Given the description of an element on the screen output the (x, y) to click on. 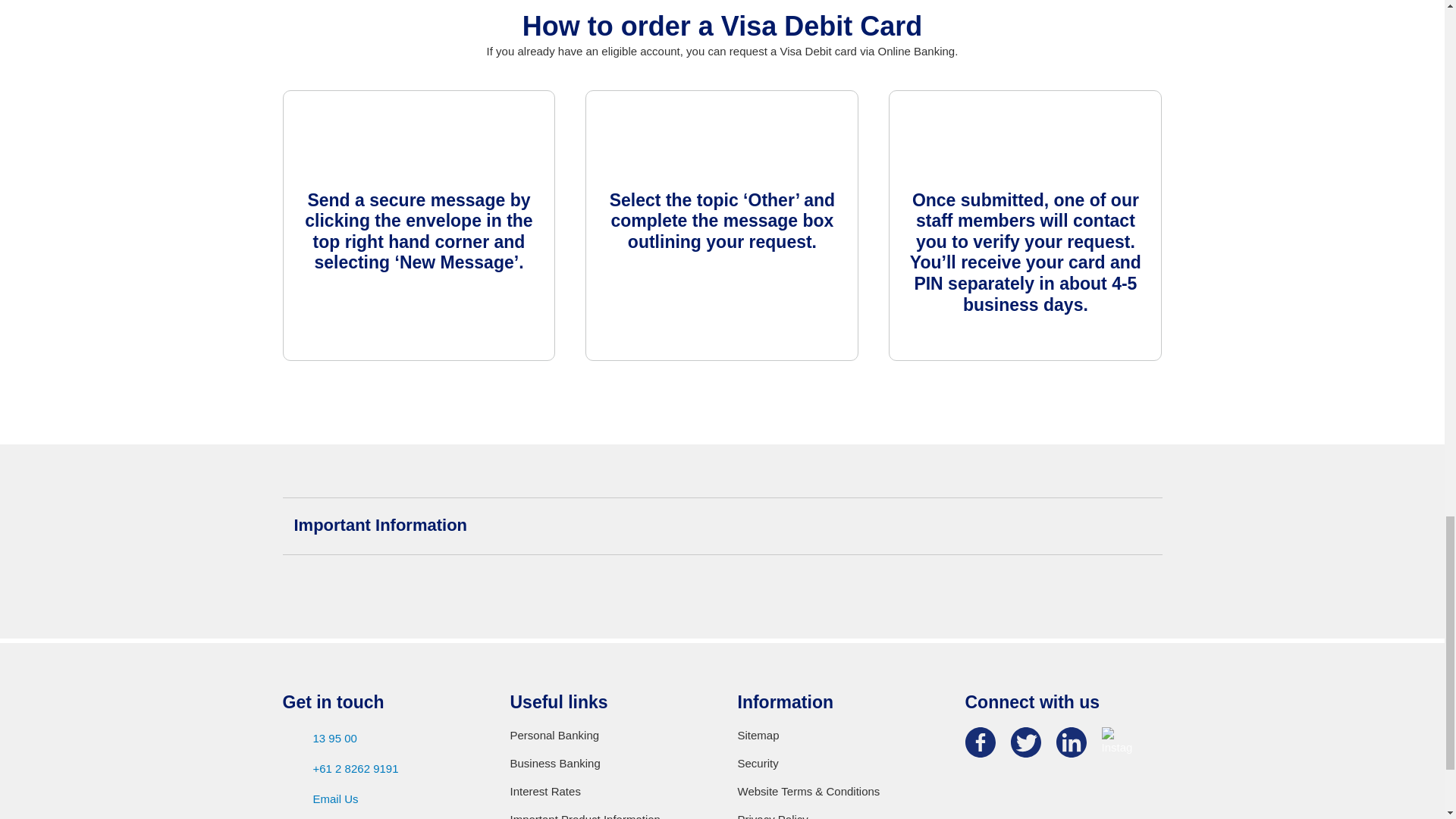
Interest Rates (607, 791)
Important Product Information (607, 815)
13 95 00 (380, 738)
Business Banking (607, 763)
Important Information (721, 525)
Sitemap (835, 735)
Email Us (380, 798)
Security (835, 763)
Personal Banking (607, 735)
